Given the description of an element on the screen output the (x, y) to click on. 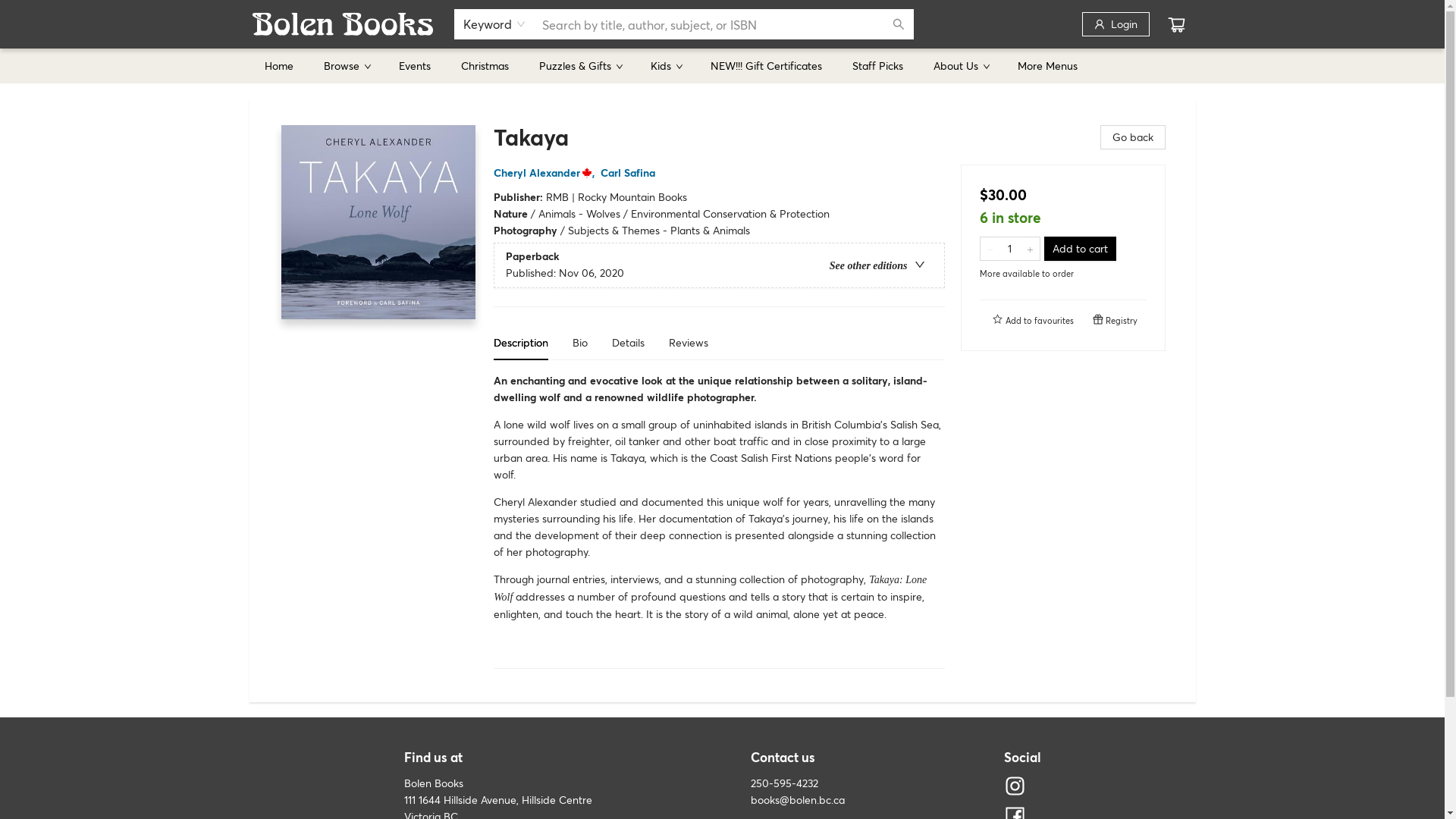
Events Element type: text (414, 65)
Go back Element type: text (1131, 137)
Add to cart Element type: text (1079, 248)
250-595-4232 Element type: text (784, 782)
Home Element type: text (277, 65)
Login Element type: text (1114, 24)
Christmas Element type: text (484, 65)
Add to favourites Element type: text (1032, 319)
NEW!!! Gift Certificates Element type: text (765, 65)
Registry Element type: text (1115, 319)
Paperback
See other editions
Published: Nov 06, 2020 Element type: text (718, 265)
Staff Picks Element type: text (877, 65)
books@bolen.bc.ca Element type: text (797, 799)
